Given the description of an element on the screen output the (x, y) to click on. 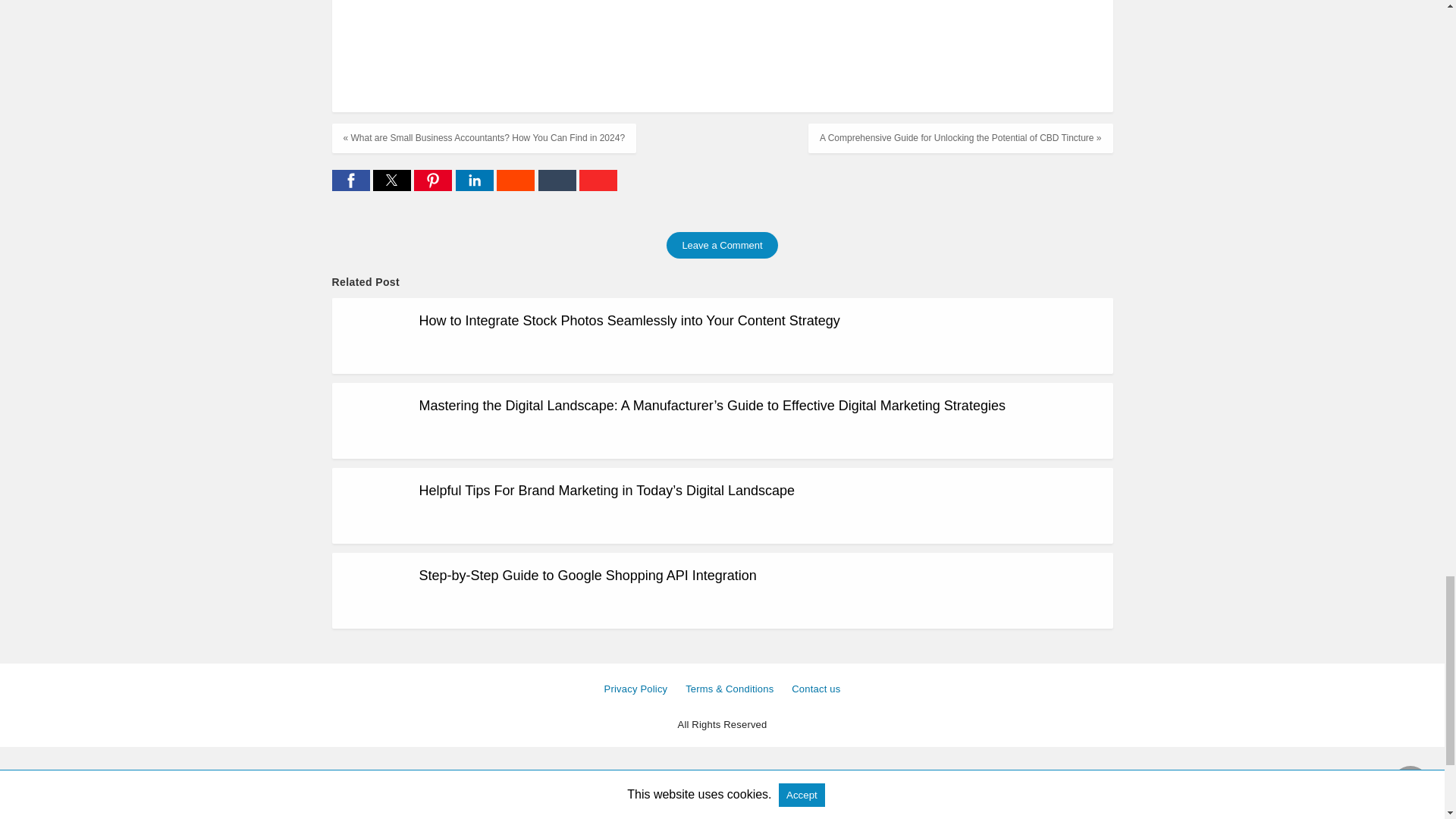
flipboard share (598, 186)
Step-by-Step Guide to Google Shopping API Integration (587, 575)
Contact us (816, 688)
Privacy Policy (636, 688)
Step-by-Step Guide to Google Shopping API Integration (587, 575)
reddit share (516, 186)
tumblr share (558, 186)
Leave a Comment (721, 244)
Leave a Comment (721, 244)
